Given the description of an element on the screen output the (x, y) to click on. 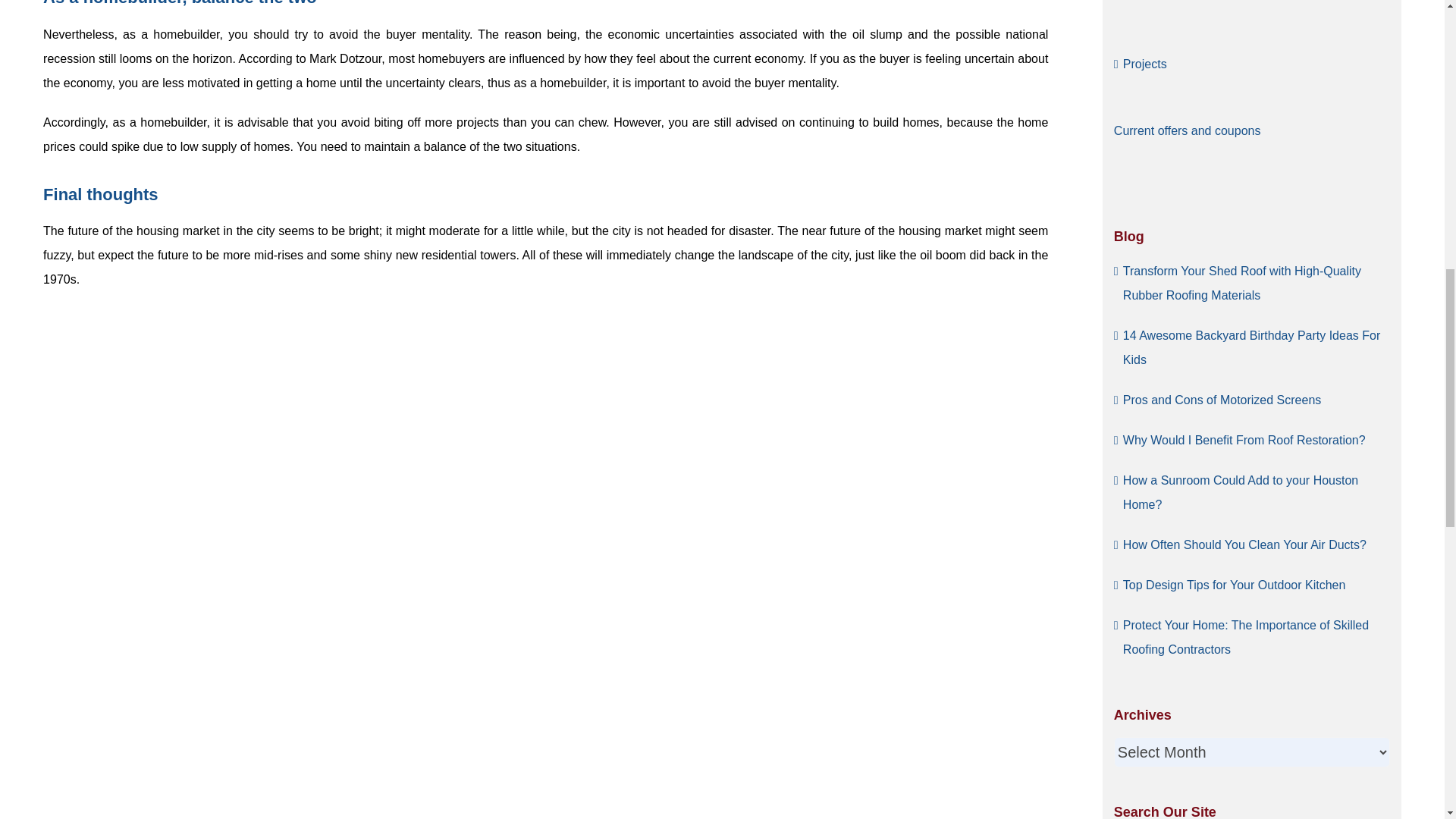
Why Would I Benefit From Roof Restoration? (1243, 440)
Current offers and coupons (1186, 130)
Top Design Tips for Your Outdoor Kitchen (1233, 584)
14 Awesome Backyard Birthday Party Ideas For Kids (1251, 347)
How Often Should You Clean Your Air Ducts? (1244, 544)
Projects (1144, 63)
Pros and Cons of Motorized Screens (1221, 399)
How a Sunroom Could Add to your Houston Home? (1240, 491)
